Given the description of an element on the screen output the (x, y) to click on. 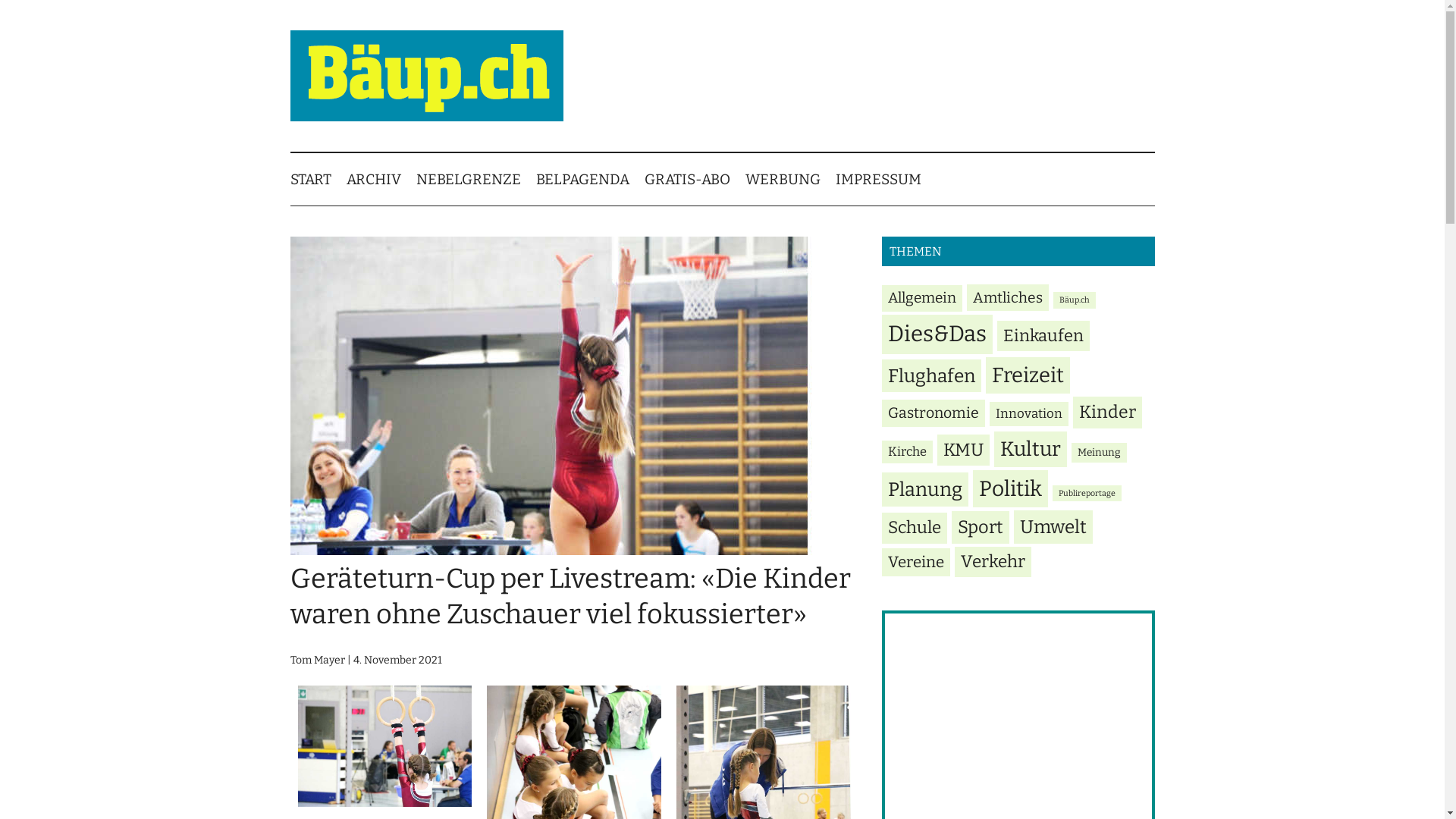
Vereine Element type: text (915, 562)
IMPRESSUM Element type: text (885, 179)
Schule Element type: text (913, 527)
KMU Element type: text (963, 450)
ARCHIV Element type: text (380, 179)
Meinung Element type: text (1098, 452)
Allgemein Element type: text (921, 298)
WERBUNG Element type: text (789, 179)
GRATIS-ABO Element type: text (694, 179)
Innovation Element type: text (1027, 413)
Verkehr Element type: text (991, 561)
Politik Element type: text (1009, 489)
Umwelt Element type: text (1052, 526)
Flughafen Element type: text (930, 375)
Kirche Element type: text (906, 452)
Einkaufen Element type: text (1042, 335)
Sport Element type: text (979, 526)
Freizeit Element type: text (1027, 375)
Kultur Element type: text (1029, 449)
Kinder Element type: text (1106, 412)
Publireportage Element type: text (1086, 493)
Planung Element type: text (924, 489)
Gastronomie Element type: text (932, 412)
NEBELGRENZE Element type: text (475, 179)
Skip to main content Element type: text (0, 0)
BELPAGENDA Element type: text (589, 179)
START Element type: text (317, 179)
Amtliches Element type: text (1007, 297)
Dies&Das Element type: text (936, 334)
